Given the description of an element on the screen output the (x, y) to click on. 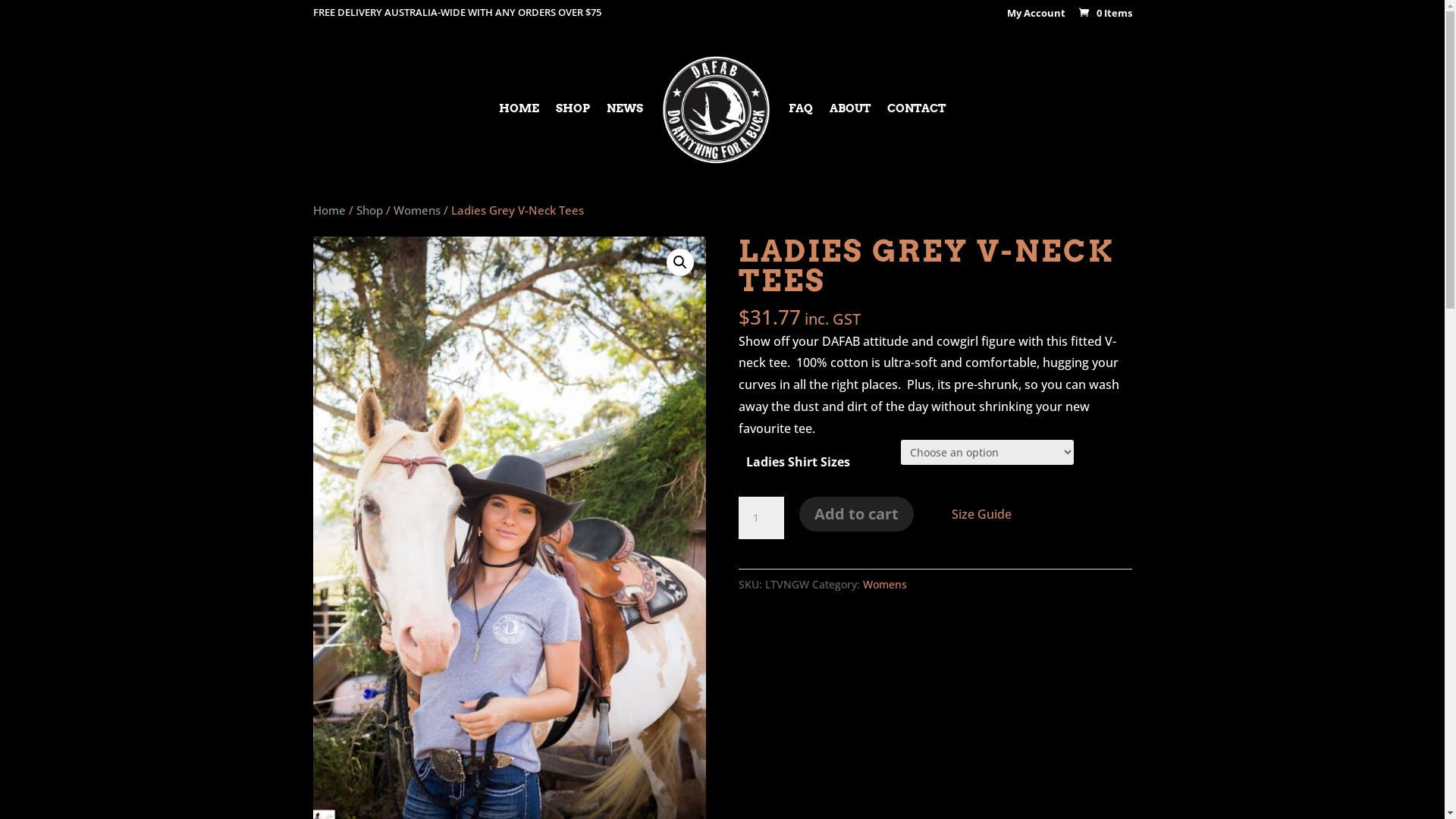
SHOP Element type: text (572, 134)
Size Guide Element type: text (981, 513)
ABOUT Element type: text (849, 134)
Shop Element type: text (369, 209)
0 Items Element type: text (1104, 12)
CONTACT Element type: text (916, 134)
HOME Element type: text (518, 134)
Qty Element type: hover (761, 517)
Home Element type: text (328, 209)
FAQ Element type: text (800, 134)
Womens Element type: text (884, 584)
My Account Element type: text (1036, 16)
Womens Element type: text (415, 209)
NEWS Element type: text (624, 134)
Add to cart Element type: text (856, 513)
